Given the description of an element on the screen output the (x, y) to click on. 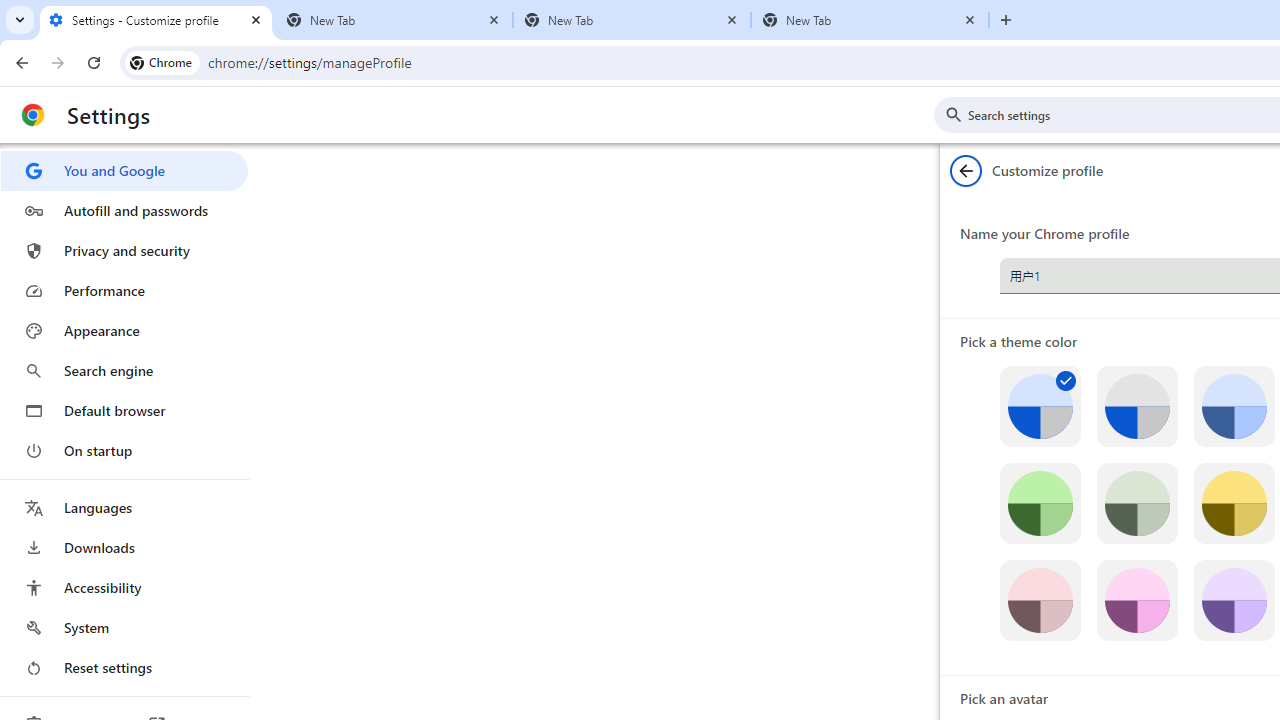
New Tab (870, 20)
New Tab (394, 20)
Settings - Customize profile (156, 20)
Reset settings (124, 668)
Languages (124, 507)
Downloads (124, 547)
Search engine (124, 370)
Performance (124, 290)
Accessibility (124, 587)
Appearance (124, 331)
